Given the description of an element on the screen output the (x, y) to click on. 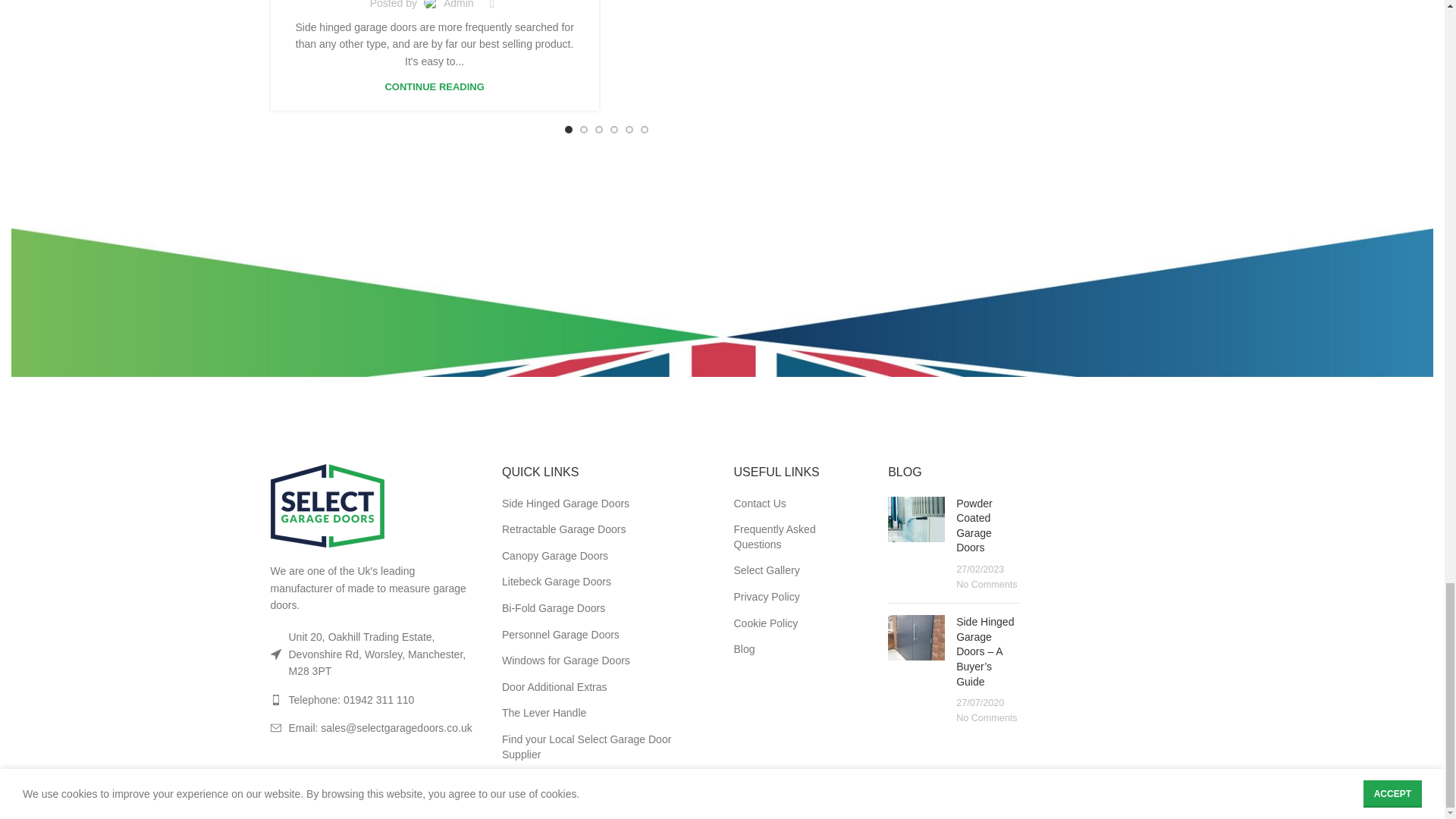
Permalink to Powder Coated Garage Doors (973, 525)
wd-phone-dark (275, 699)
wd-envelope-dark (275, 727)
wd-cursor-dark (275, 654)
